Given the description of an element on the screen output the (x, y) to click on. 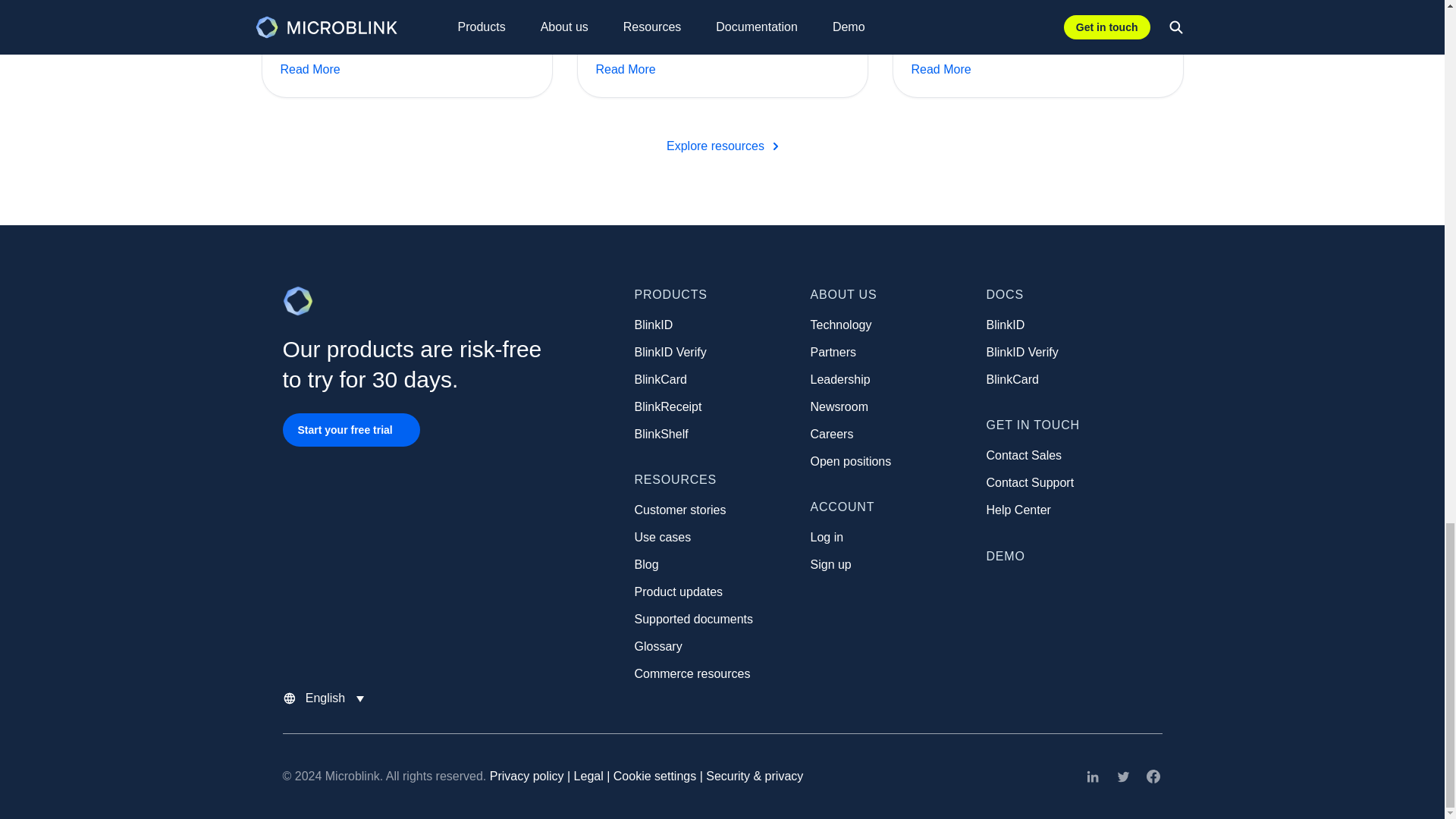
Linkedin (1091, 776)
Facebook (1151, 776)
Twitter (1122, 776)
Start your free trial (345, 429)
Explore resources (721, 145)
English (326, 697)
